Given the description of an element on the screen output the (x, y) to click on. 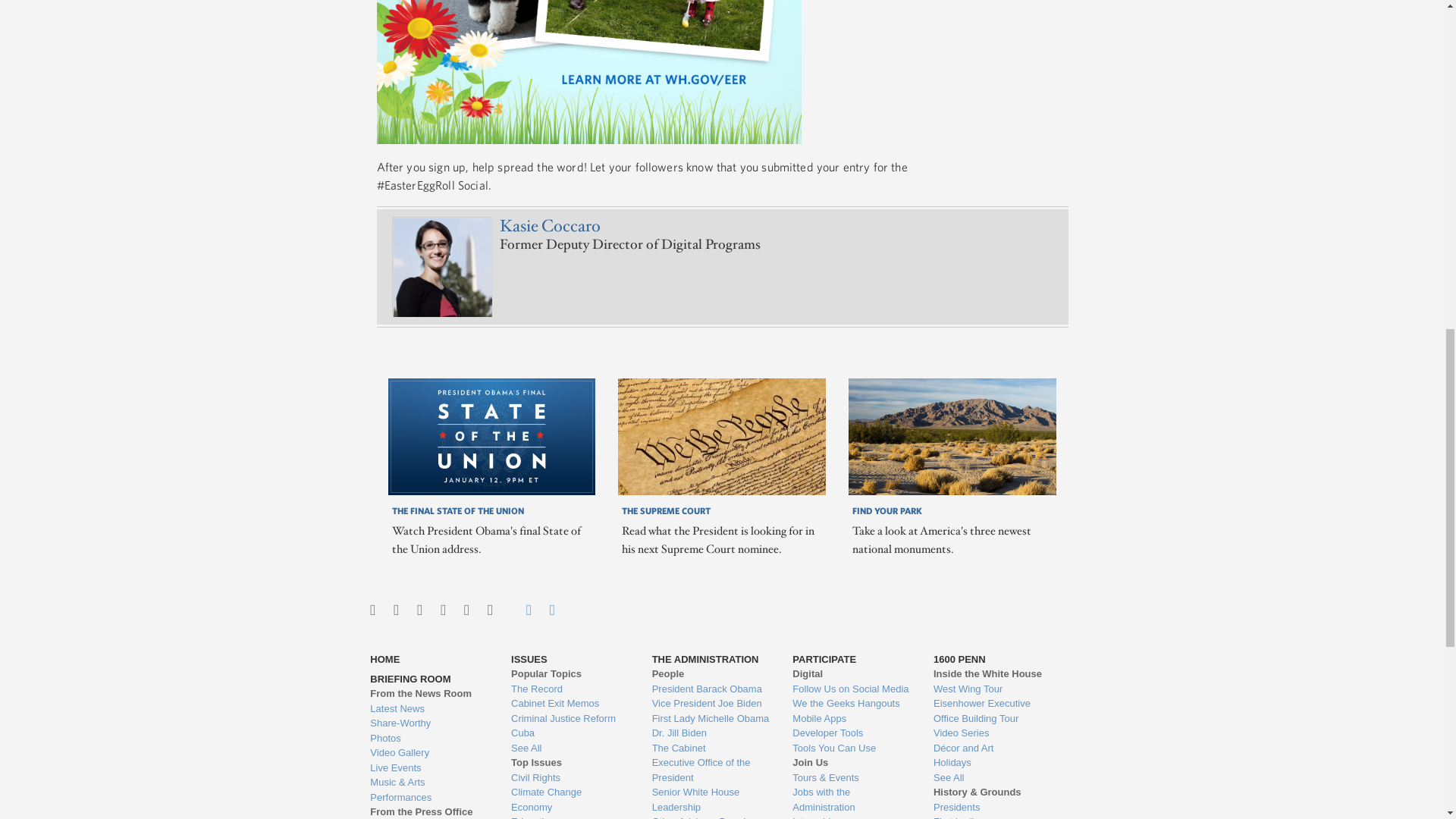
White House Easter Egg Social 2014 (587, 72)
More ways to engage with the Whitehouse. (490, 609)
Contact the Whitehouse. (521, 609)
Visit The Whitehouse Channel on Youtube. (466, 609)
Follow the Whitehouse on Twitter. (372, 609)
See the Whitehouse on Instagram. (395, 609)
Like the Whitehouse on Facebook. (419, 609)
